Given the description of an element on the screen output the (x, y) to click on. 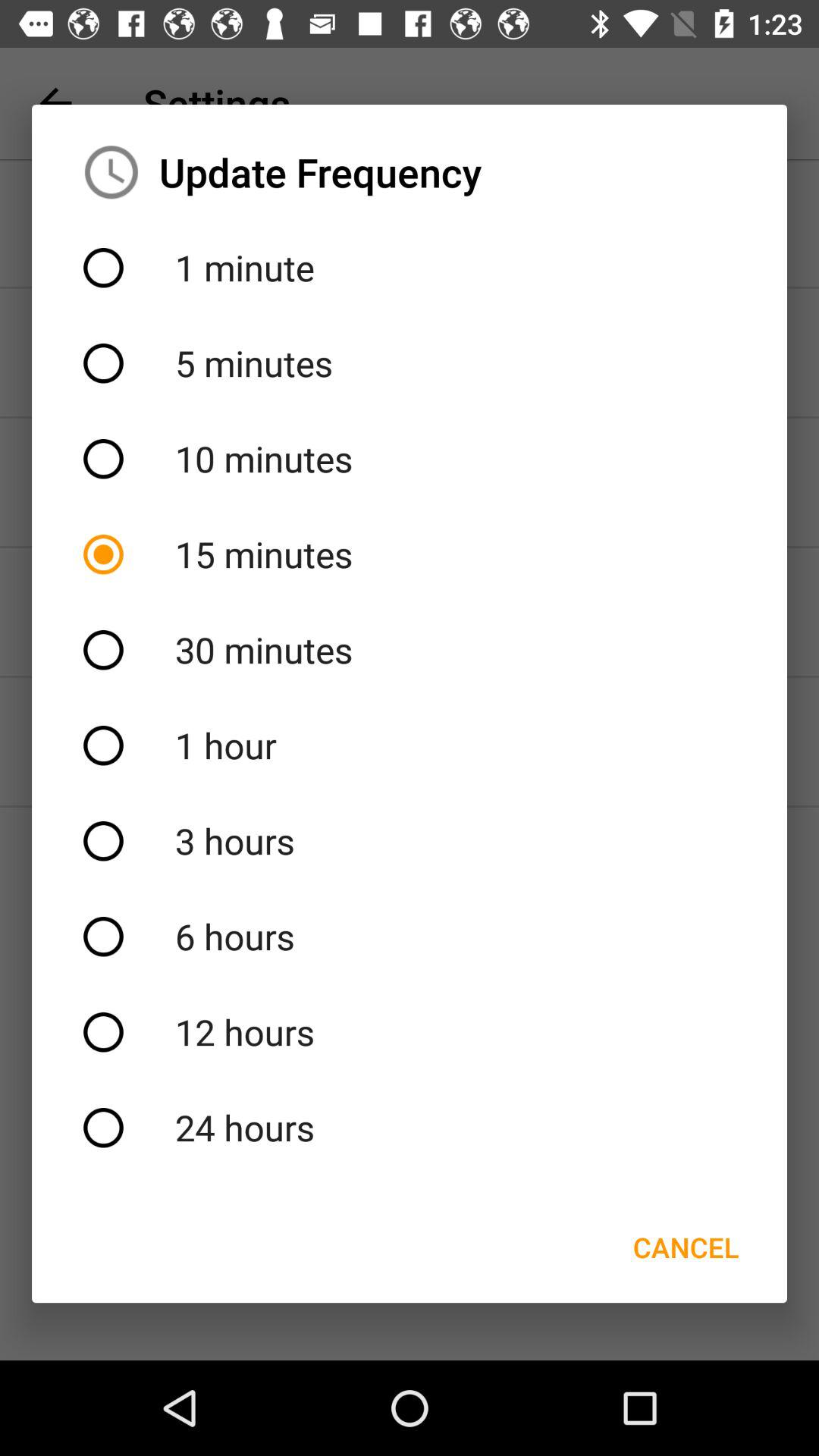
scroll to the 1 hour item (409, 745)
